Given the description of an element on the screen output the (x, y) to click on. 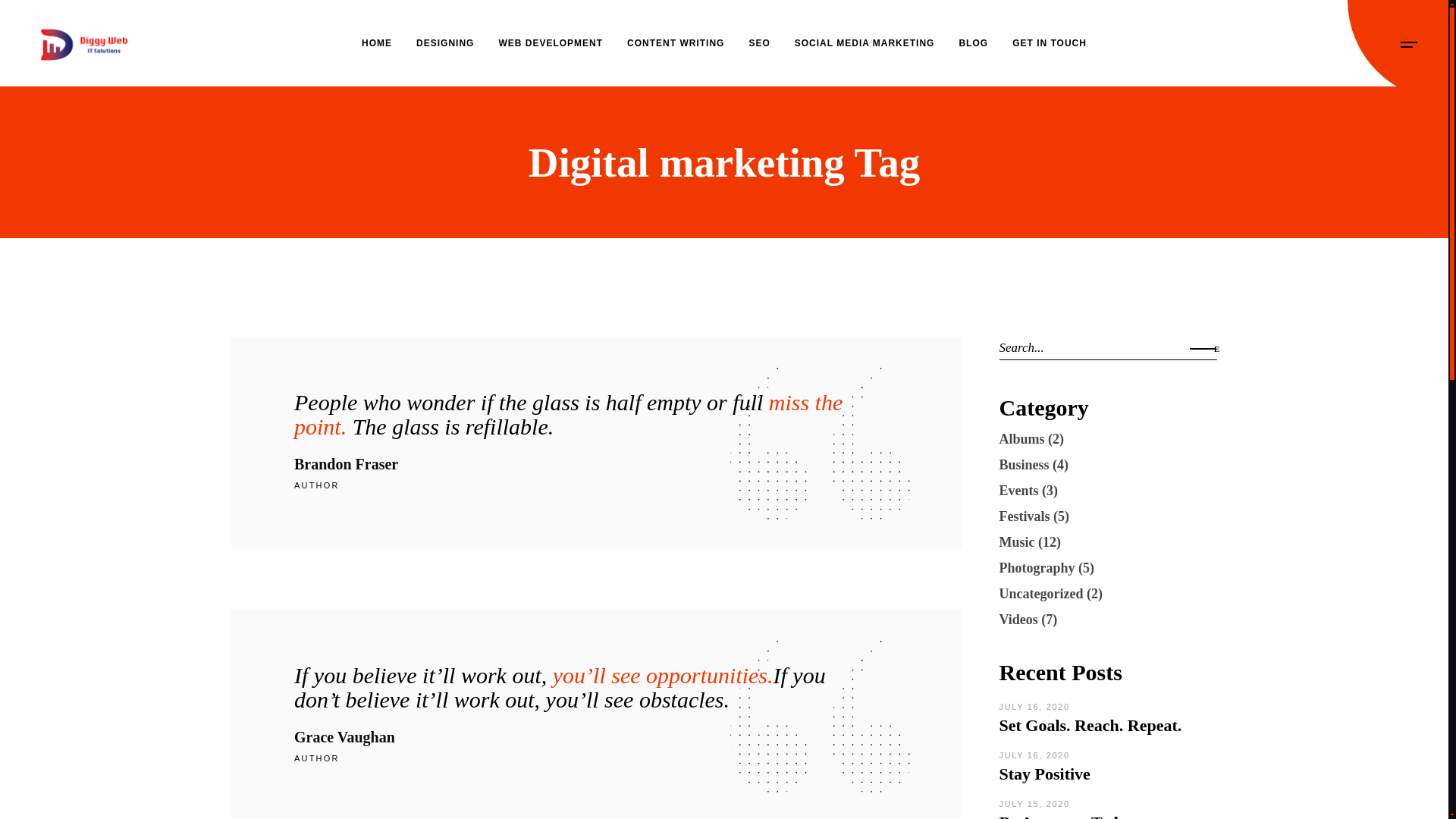
Videos (1018, 619)
Photography (1036, 567)
Albums (1021, 438)
Stay Positive (1044, 773)
SOCIAL MEDIA MARKETING (864, 43)
Events (1018, 490)
JULY 16, 2020 (1034, 755)
Be Awesome Today (1066, 816)
JULY 16, 2020 (1034, 706)
Music (1016, 541)
